Given the description of an element on the screen output the (x, y) to click on. 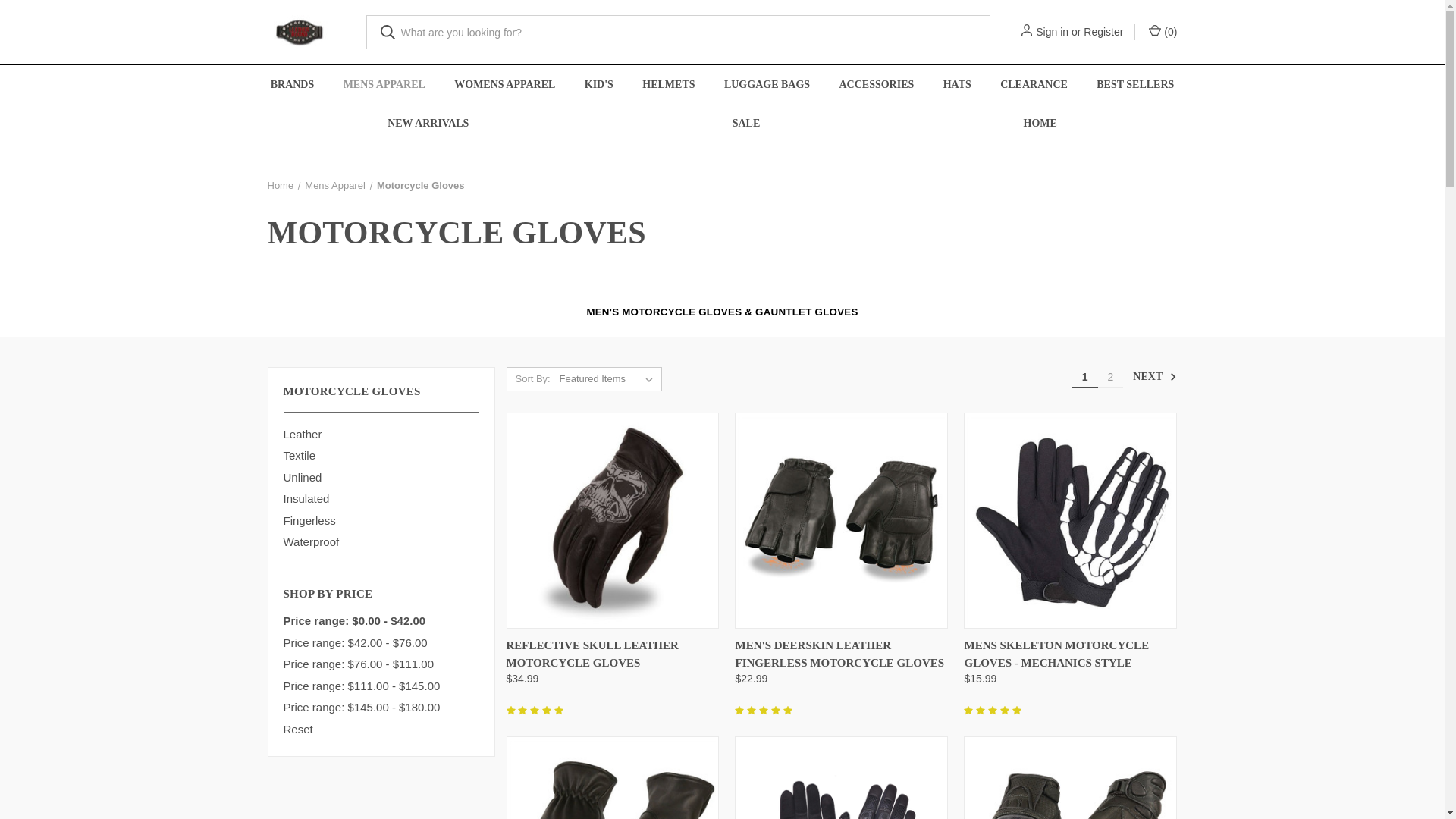
Premium Deerskin Men's Black Leather Gloves, Unlined Riding (612, 780)
Register (1102, 32)
Sign in (1051, 32)
Leather (381, 434)
Waterproof (381, 542)
Insulated (381, 499)
Leather Bound (298, 32)
Knuckle Armor Mesh Motorcycle Gloves (841, 778)
Reflective Ghost Skull Black Leather Motorcycle Gloves (612, 520)
Fingerless (381, 521)
Textile (381, 455)
Unlined (381, 477)
BRANDS (292, 84)
